Given the description of an element on the screen output the (x, y) to click on. 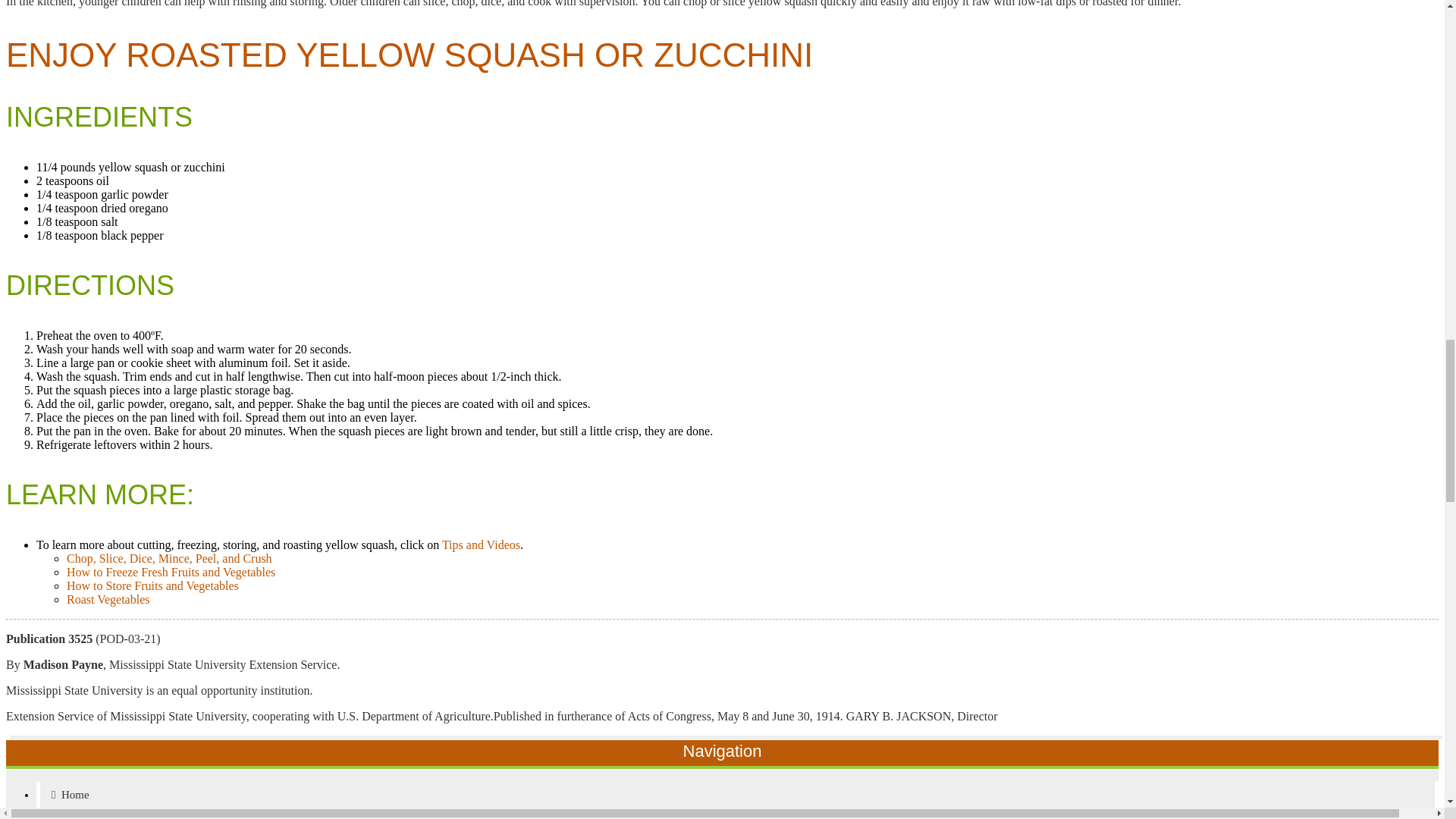
How to Freeze Fresh Fruits and Vegetables (170, 571)
How to Store Fruits and Vegetables (152, 585)
Tips and Videos (480, 544)
Chop, Slice, Dice, Mince, Peel, and Crush (169, 558)
Go to home (737, 795)
Home (737, 795)
Roast Vegetables (107, 599)
